Given the description of an element on the screen output the (x, y) to click on. 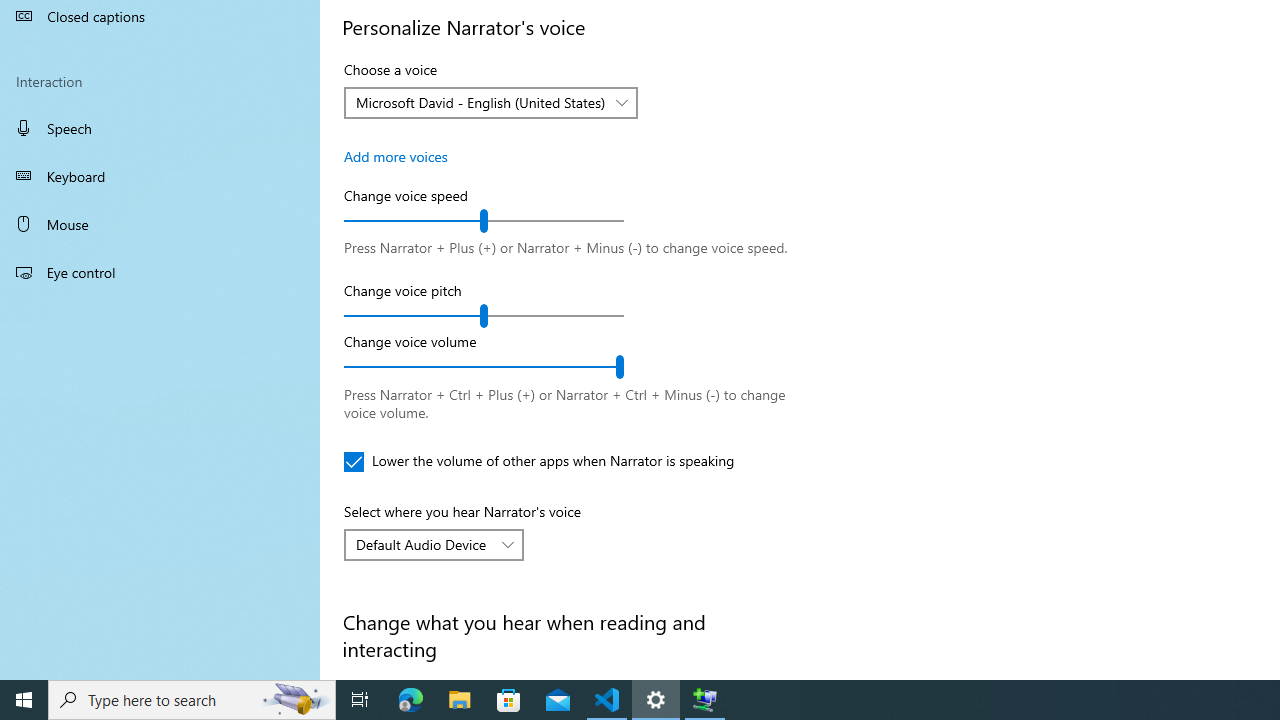
Task View (359, 699)
Microsoft Store (509, 699)
Add more voices (396, 156)
Settings - 1 running window (656, 699)
File Explorer (460, 699)
Choose a voice (490, 102)
Default Audio Device (423, 543)
Start (24, 699)
Keyboard (160, 175)
Select where you hear Narrator's voice (433, 544)
Speech (160, 127)
Visual Studio Code - 1 running window (607, 699)
Lower the volume of other apps when Narrator is speaking (539, 461)
Change voice volume (484, 367)
